Given the description of an element on the screen output the (x, y) to click on. 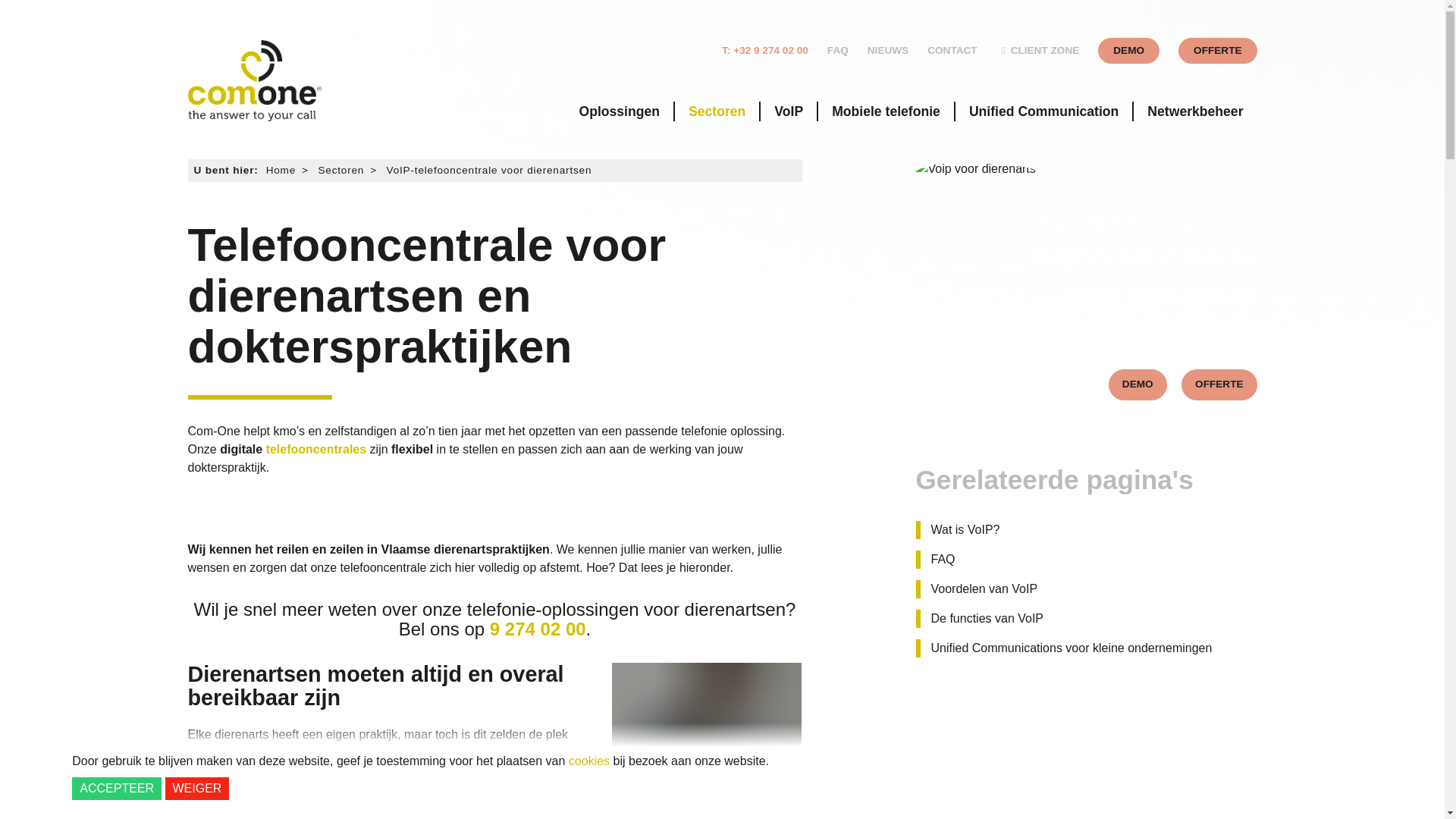
VoIP Element type: text (788, 111)
WEIGER Element type: text (197, 788)
VoIP-telefooncentrale voor dierenartsen Element type: text (489, 169)
Netwerkbeheer Element type: text (1194, 111)
OFFERTE Element type: text (1218, 384)
ACCEPTEER Element type: text (116, 788)
telefooncentrales Element type: text (316, 449)
Home Element type: text (280, 169)
Wat is VoIP? Element type: text (960, 529)
Voordelen van VoIP Element type: text (978, 589)
FAQ Element type: text (937, 559)
9 274 02 00 Element type: text (537, 629)
DEMO Element type: text (1128, 50)
DEMO Element type: text (1137, 384)
Oplossingen Element type: text (618, 111)
Sectoren Element type: text (340, 169)
Mobiele telefonie Element type: text (885, 111)
cookies Element type: text (588, 760)
Unified Communications voor kleine ondernemingen Element type: text (1066, 648)
FAQ Element type: text (837, 50)
CONTACT Element type: text (951, 50)
NIEUWS Element type: text (887, 50)
CLIENT ZONE Element type: text (1037, 50)
Sectoren Element type: text (716, 111)
OFFERTE Element type: text (1217, 50)
Unified Communication Element type: text (1043, 111)
De functies van VoIP Element type: text (982, 618)
T: +32 9 274 02 00 Element type: text (764, 50)
